Given the description of an element on the screen output the (x, y) to click on. 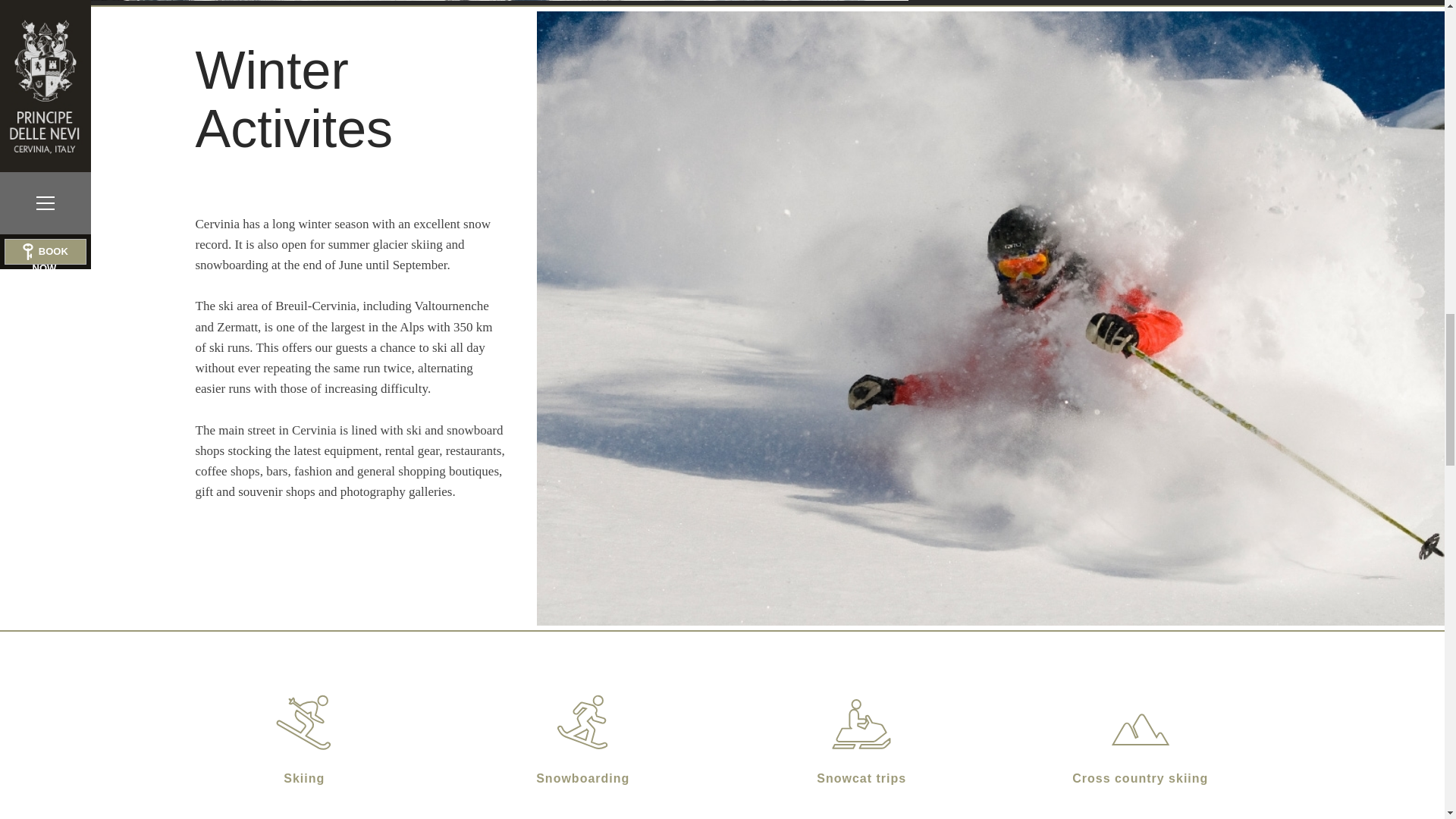
Snowboarding (582, 722)
Skiing (304, 722)
Cross country skiing (1139, 722)
Snowcat trips (861, 722)
